Given the description of an element on the screen output the (x, y) to click on. 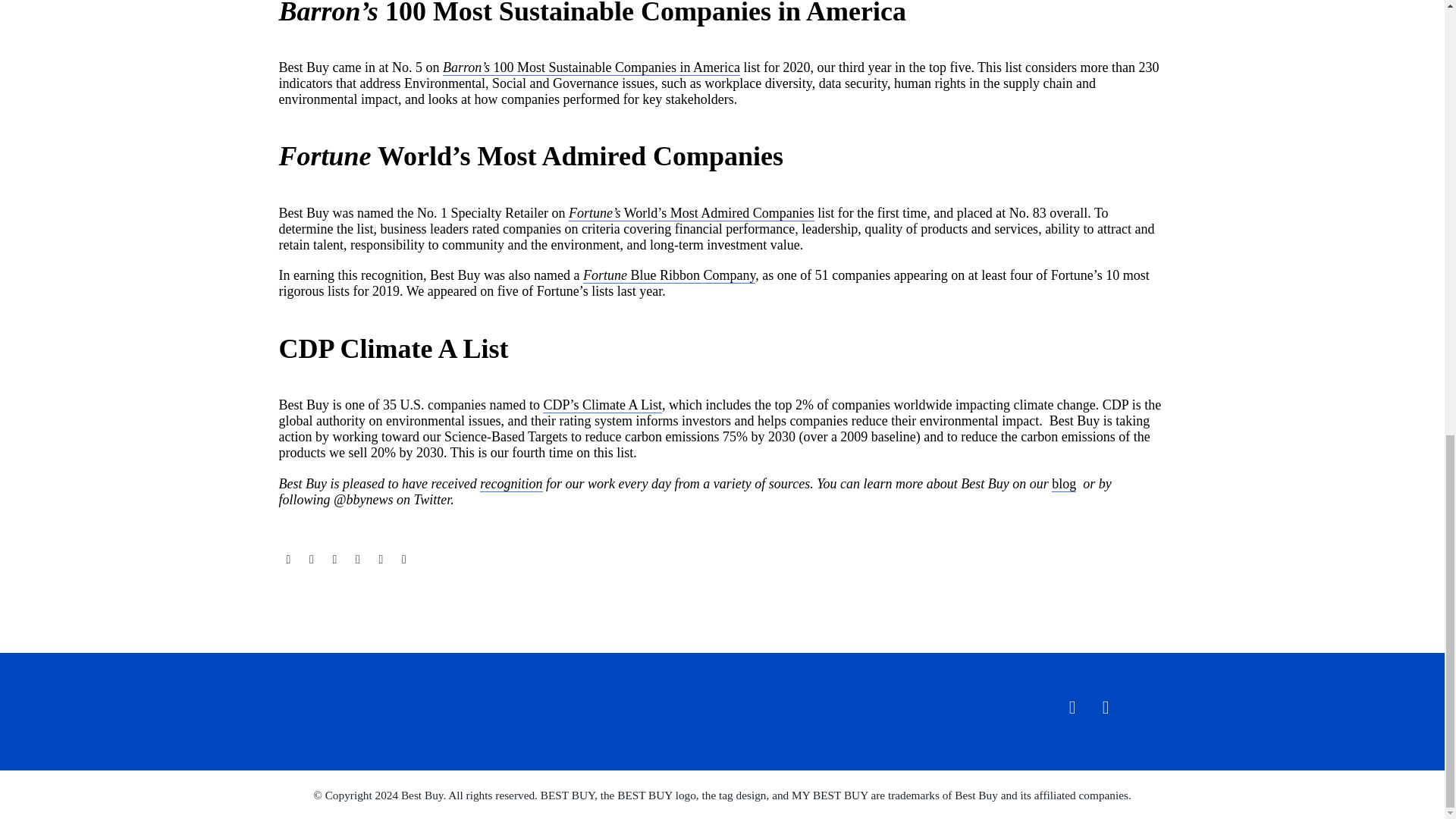
blog (1063, 483)
Twitter (311, 559)
Facebook (288, 559)
Reddit (403, 559)
Tumblr (358, 559)
Fortune Blue Ribbon Company (669, 275)
Pinterest (334, 559)
recognition (510, 483)
LinkedIn (380, 559)
